Given the description of an element on the screen output the (x, y) to click on. 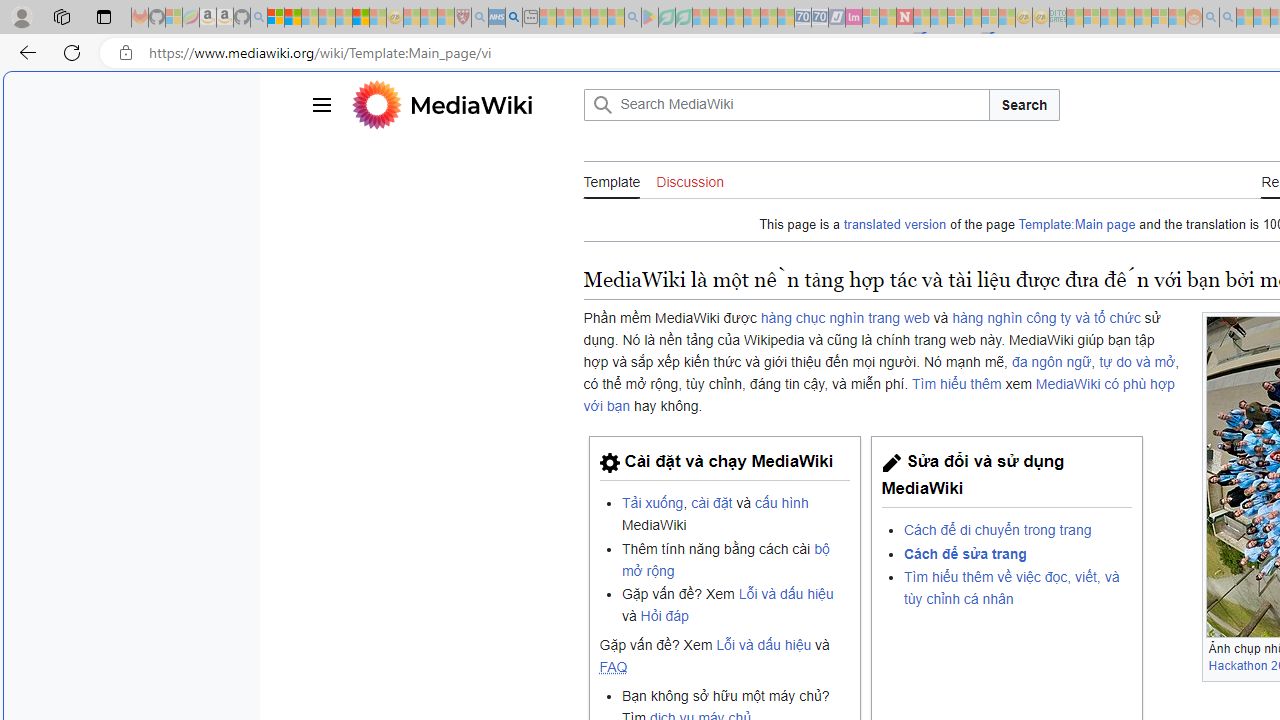
Search MediaWiki (785, 104)
Template:Main page (1076, 224)
